Given the description of an element on the screen output the (x, y) to click on. 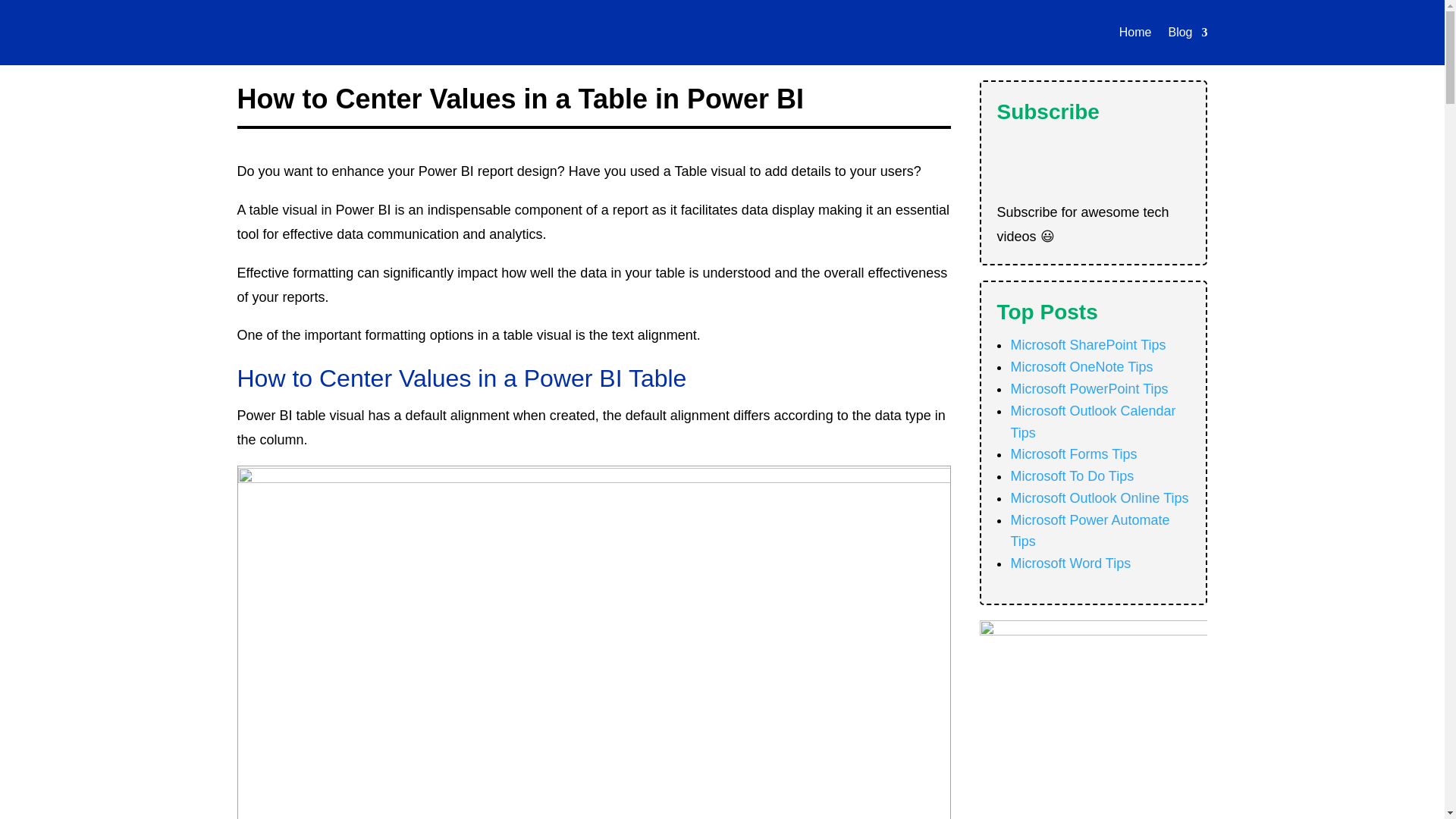
Microsoft Power Automate Tips (1089, 530)
Microsoft OneNote Tips (1081, 366)
Microsoft Outlook Online Tips (1099, 498)
Microsoft To Do Tips (1072, 476)
Microsoft Word Tips (1070, 563)
Microsoft Outlook Calendar Tips (1092, 421)
Microsoft PowerPoint Tips (1088, 388)
Microsoft Forms Tips (1073, 453)
Microsoft SharePoint Tips (1088, 344)
